Given the description of an element on the screen output the (x, y) to click on. 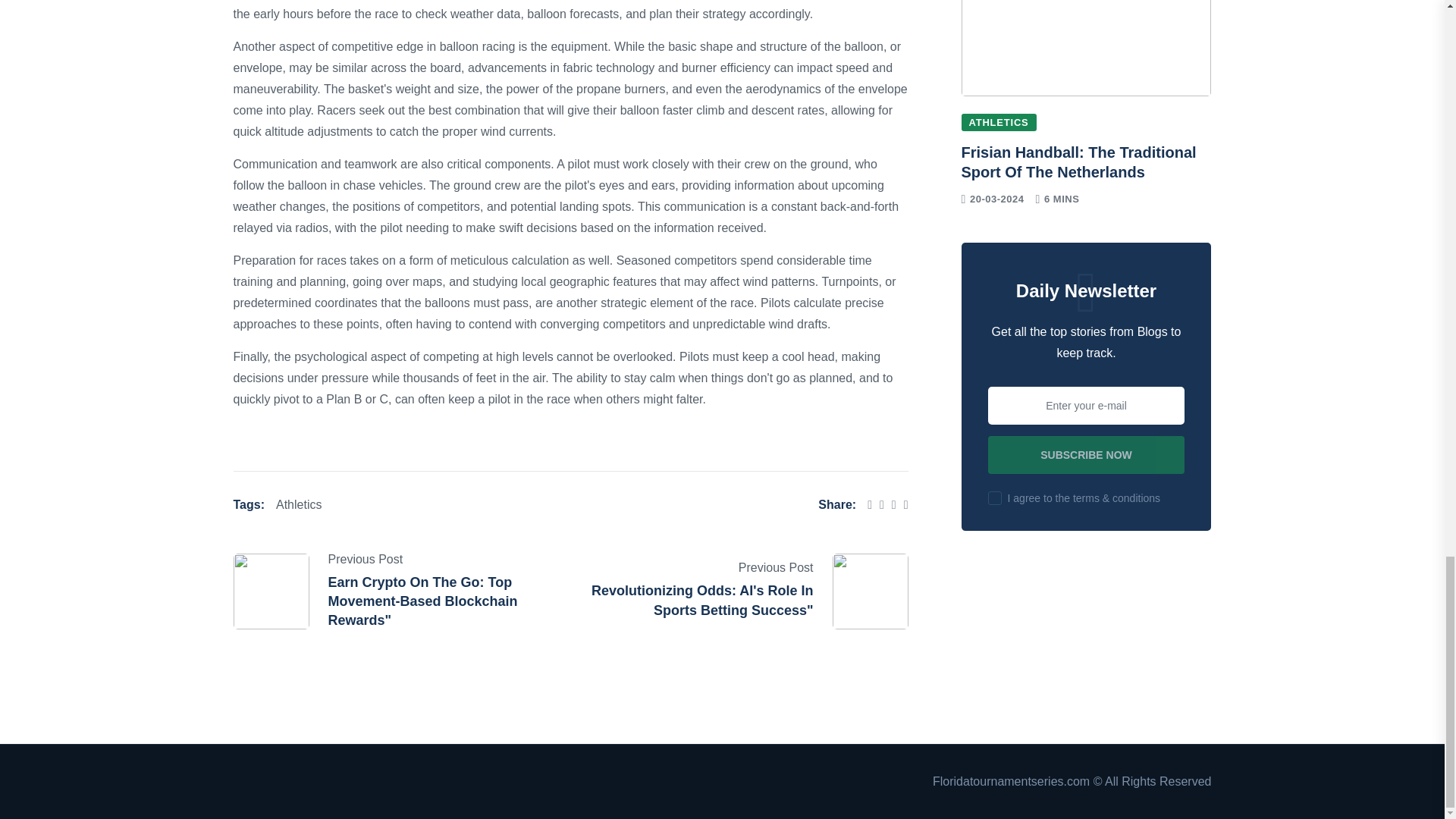
Revolutionizing Odds: AI'S Role In Sports Betting Success" (702, 600)
on (994, 498)
